Given the description of an element on the screen output the (x, y) to click on. 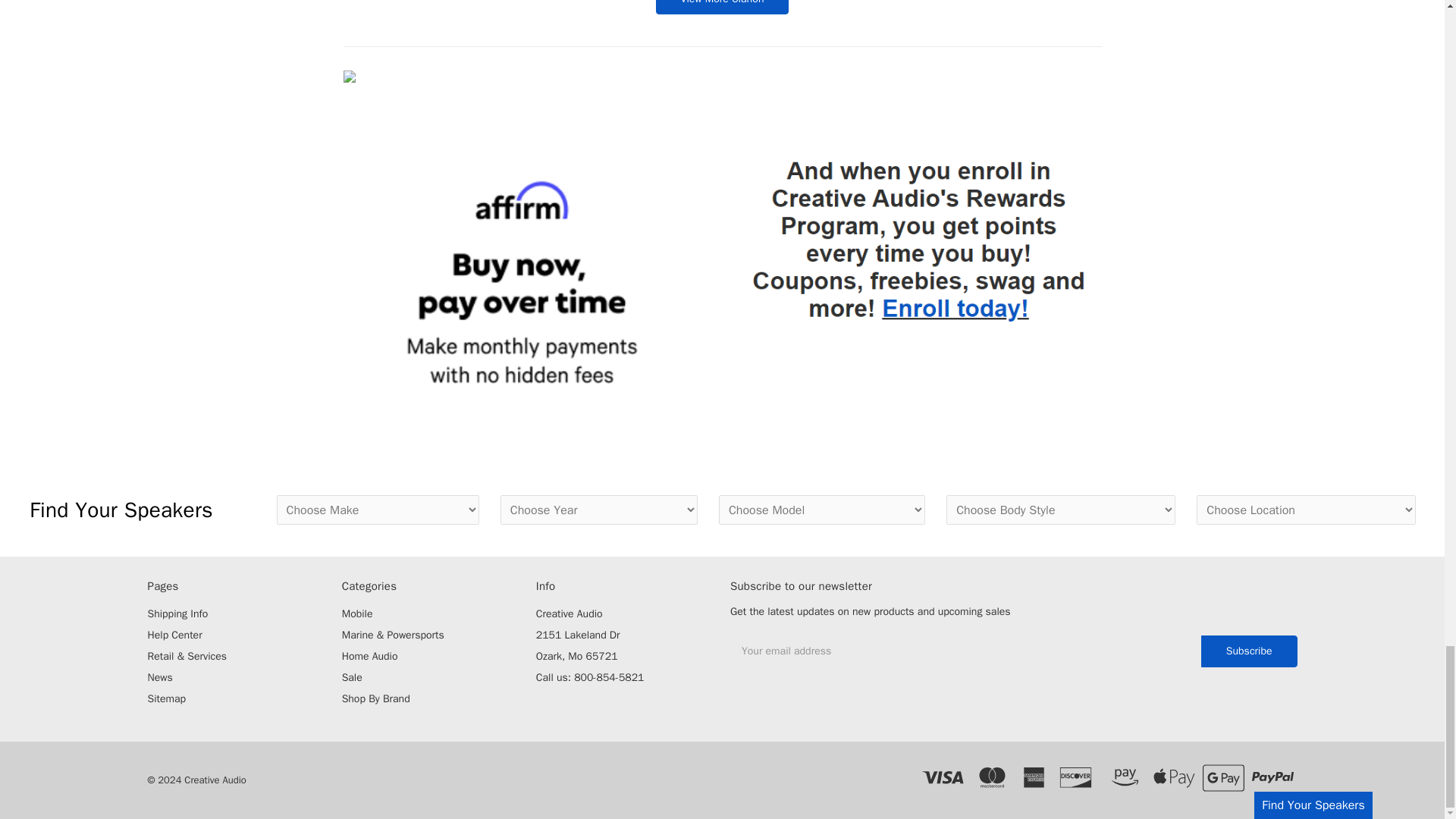
Subscribe (1249, 651)
